Given the description of an element on the screen output the (x, y) to click on. 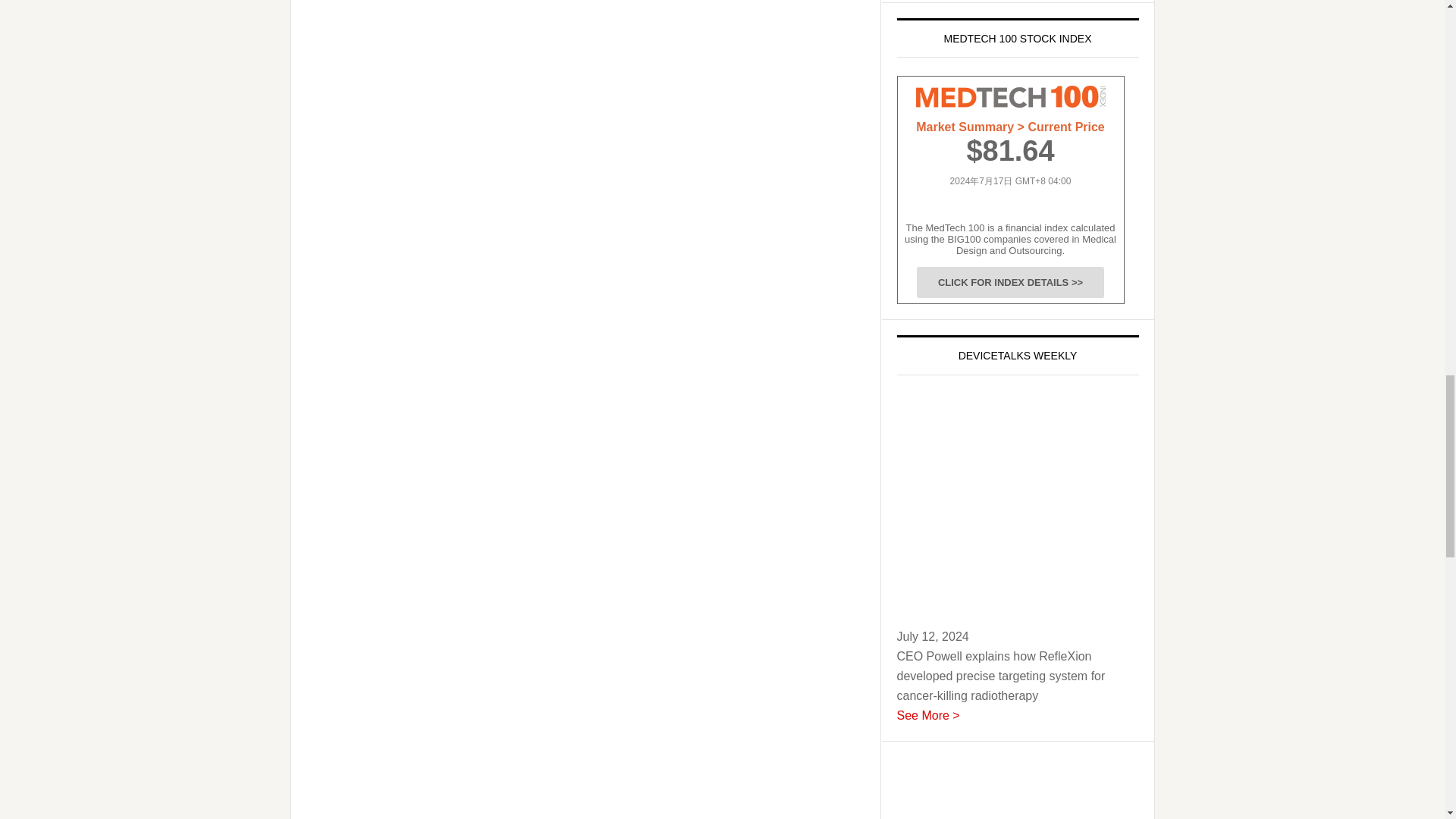
3rd party ad content (1010, 787)
